Given the description of an element on the screen output the (x, y) to click on. 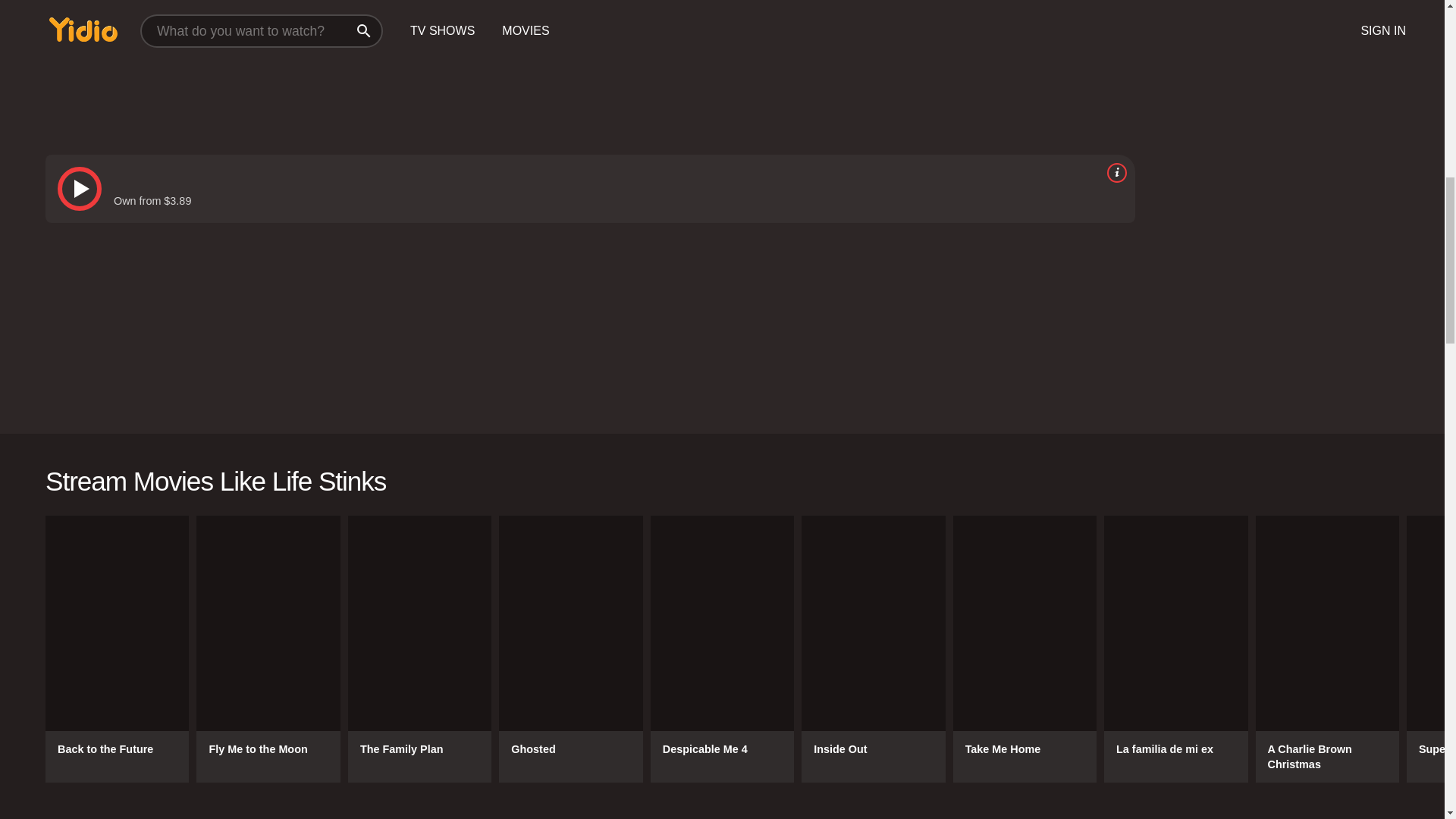
Advertisement (500, 63)
